Given the description of an element on the screen output the (x, y) to click on. 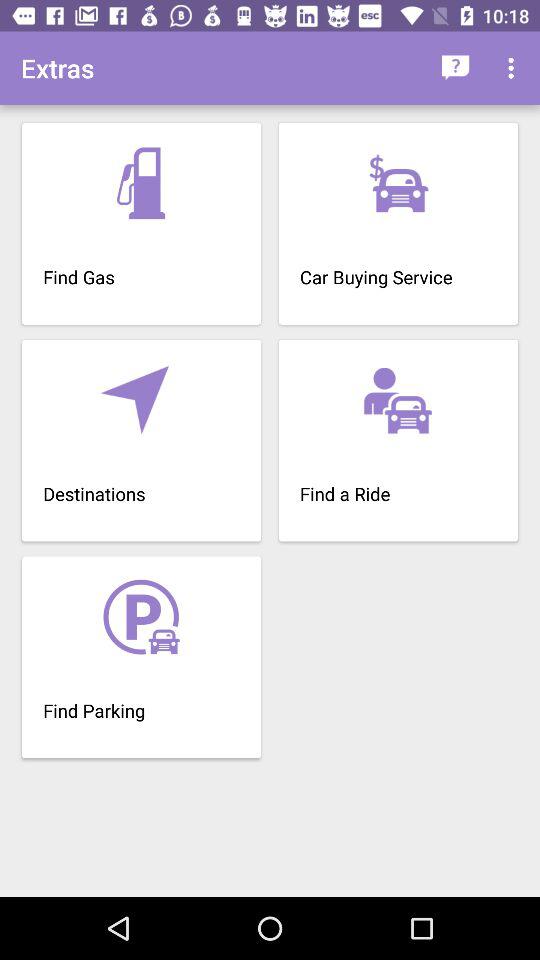
choose the app to the right of the extras icon (455, 67)
